Given the description of an element on the screen output the (x, y) to click on. 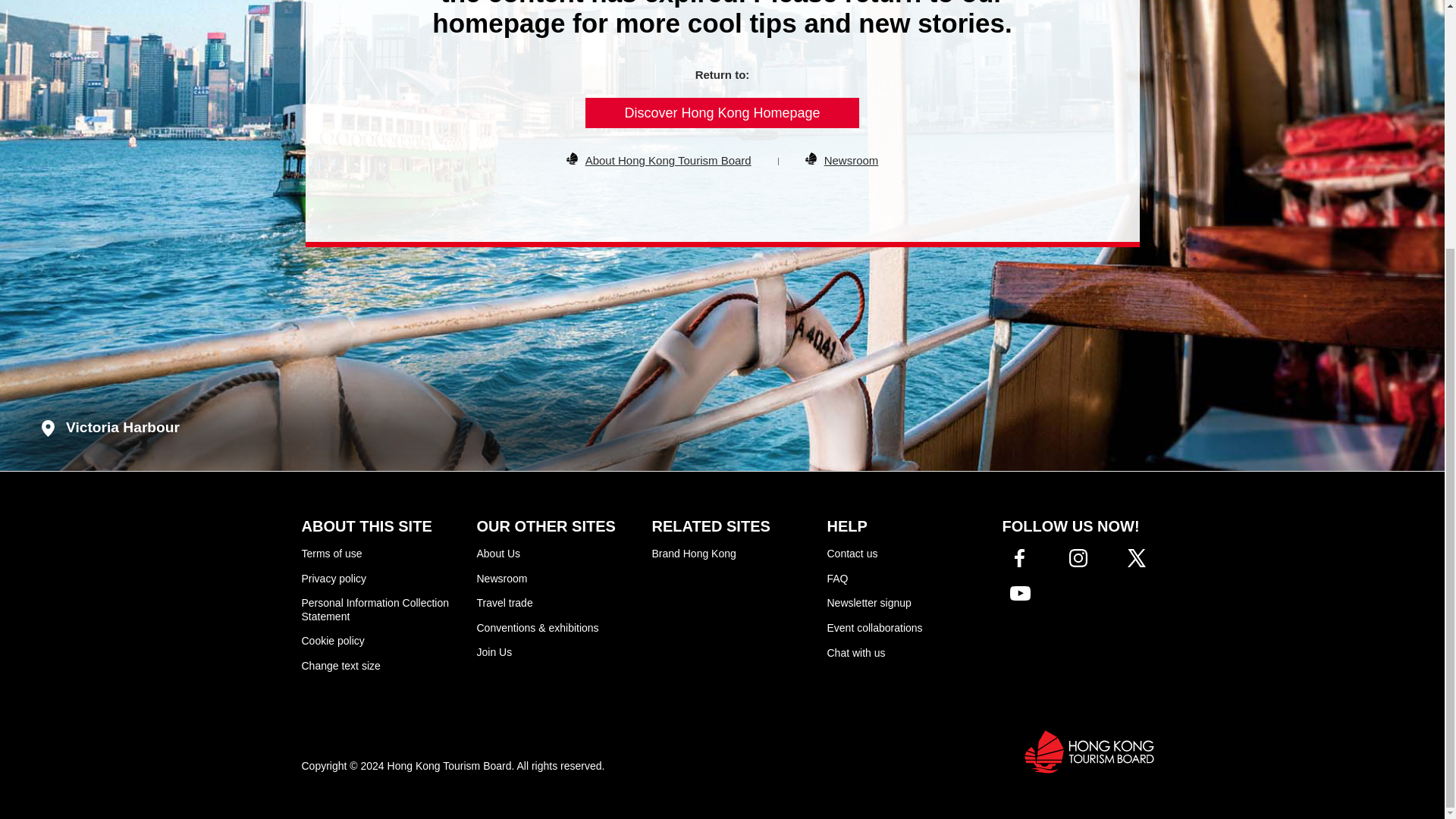
Newsroom (501, 578)
instagram (1077, 557)
Brand Hong Kong (694, 553)
Newsletter signup (869, 603)
Hong Kong Tourism Board (1089, 751)
About Us (497, 553)
youtube (1020, 593)
Change text size (340, 664)
About Hong Kong Tourism Board (668, 160)
Contact us (852, 553)
Join Us (494, 652)
Event collaborations (874, 626)
FAQ (837, 578)
Travel trade (504, 603)
Cookie policy (333, 640)
